Given the description of an element on the screen output the (x, y) to click on. 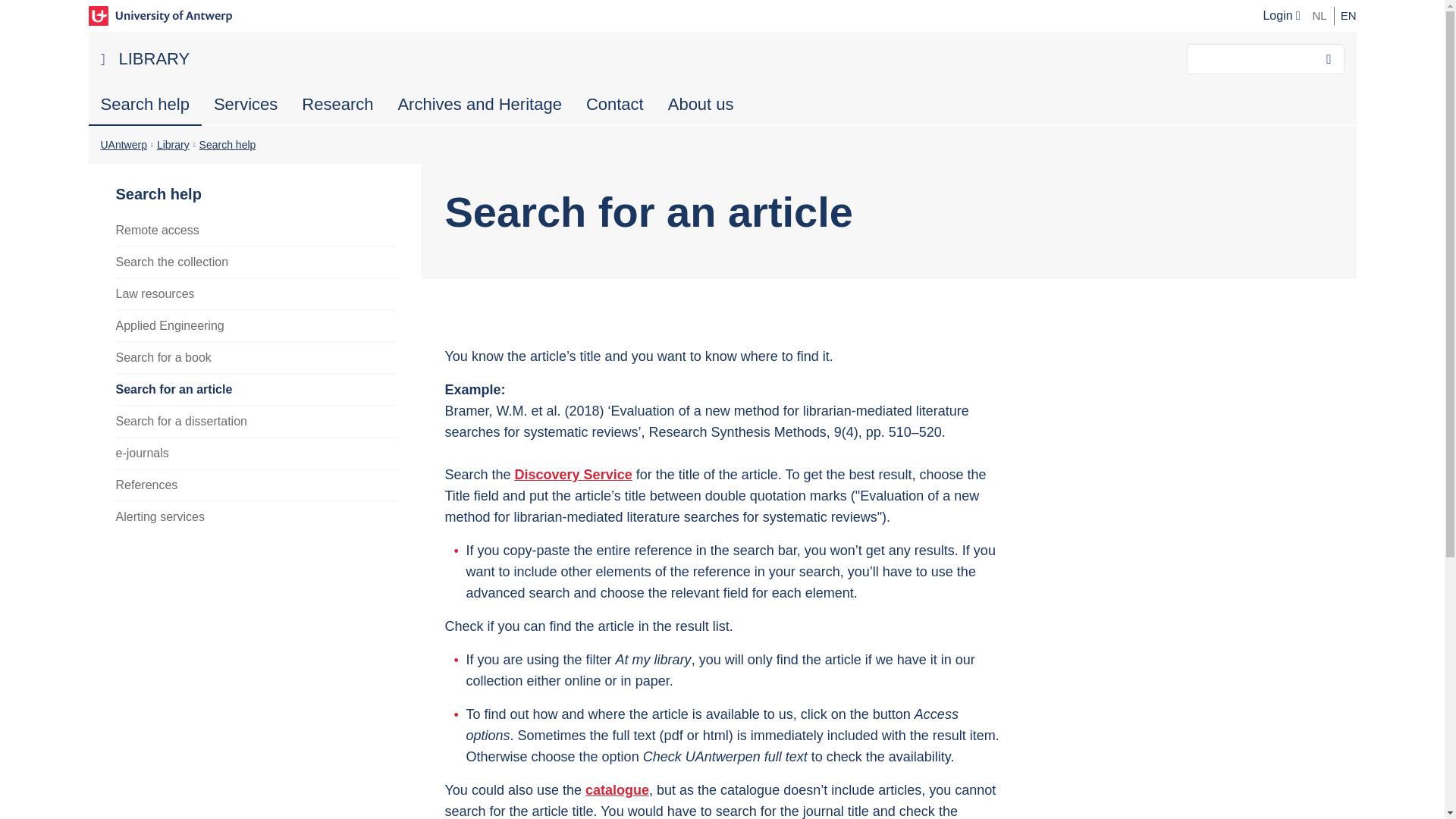
Research (337, 105)
Remote access (255, 230)
Search the collection (255, 261)
Discovery Service (573, 474)
Search for a book (255, 357)
catalogue (617, 789)
search (1328, 59)
Library (173, 144)
EN (1348, 15)
Search for a dissertation (255, 420)
